Given the description of an element on the screen output the (x, y) to click on. 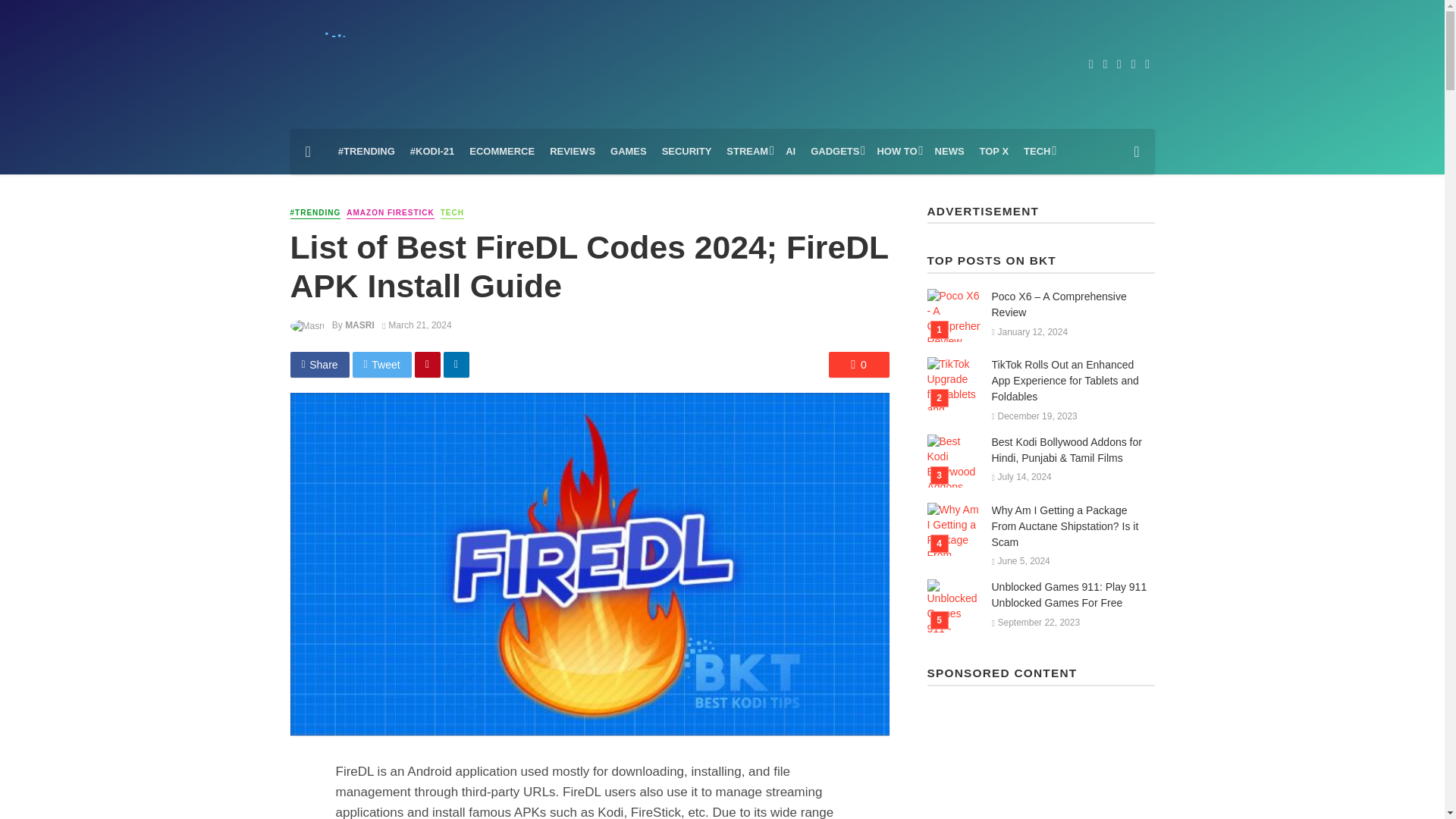
TOP X (994, 151)
Posts by Masri (359, 325)
Share on Pinterest (427, 364)
ECOMMERCE (501, 151)
GAMES (627, 151)
NEWS (949, 151)
March 21, 2024 at 12:30 am (416, 325)
Share on Linkedin (456, 364)
TECH (1037, 151)
HOW TO (897, 151)
STREAM (748, 151)
0 Comments (858, 364)
GADGETS (836, 151)
SECURITY (686, 151)
REVIEWS (571, 151)
